Given the description of an element on the screen output the (x, y) to click on. 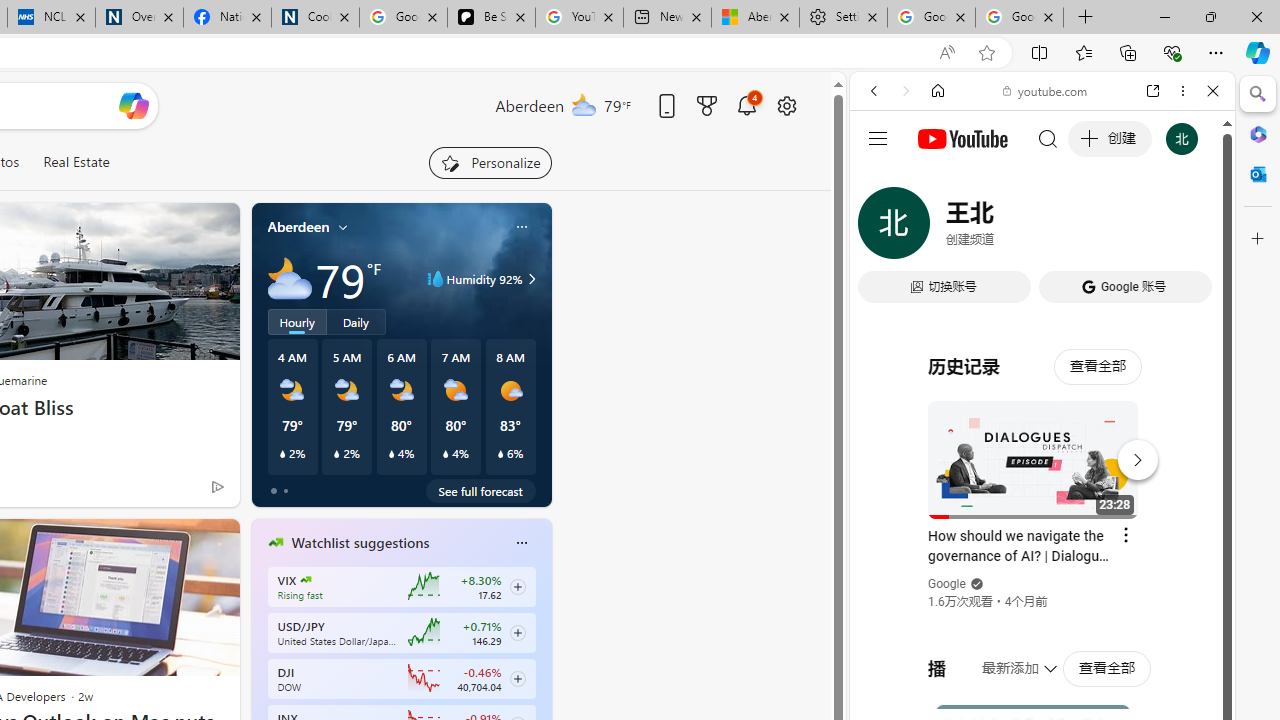
Aberdeen (298, 227)
Personalize your feed" (489, 162)
Class: follow-button  m (517, 678)
